Given the description of an element on the screen output the (x, y) to click on. 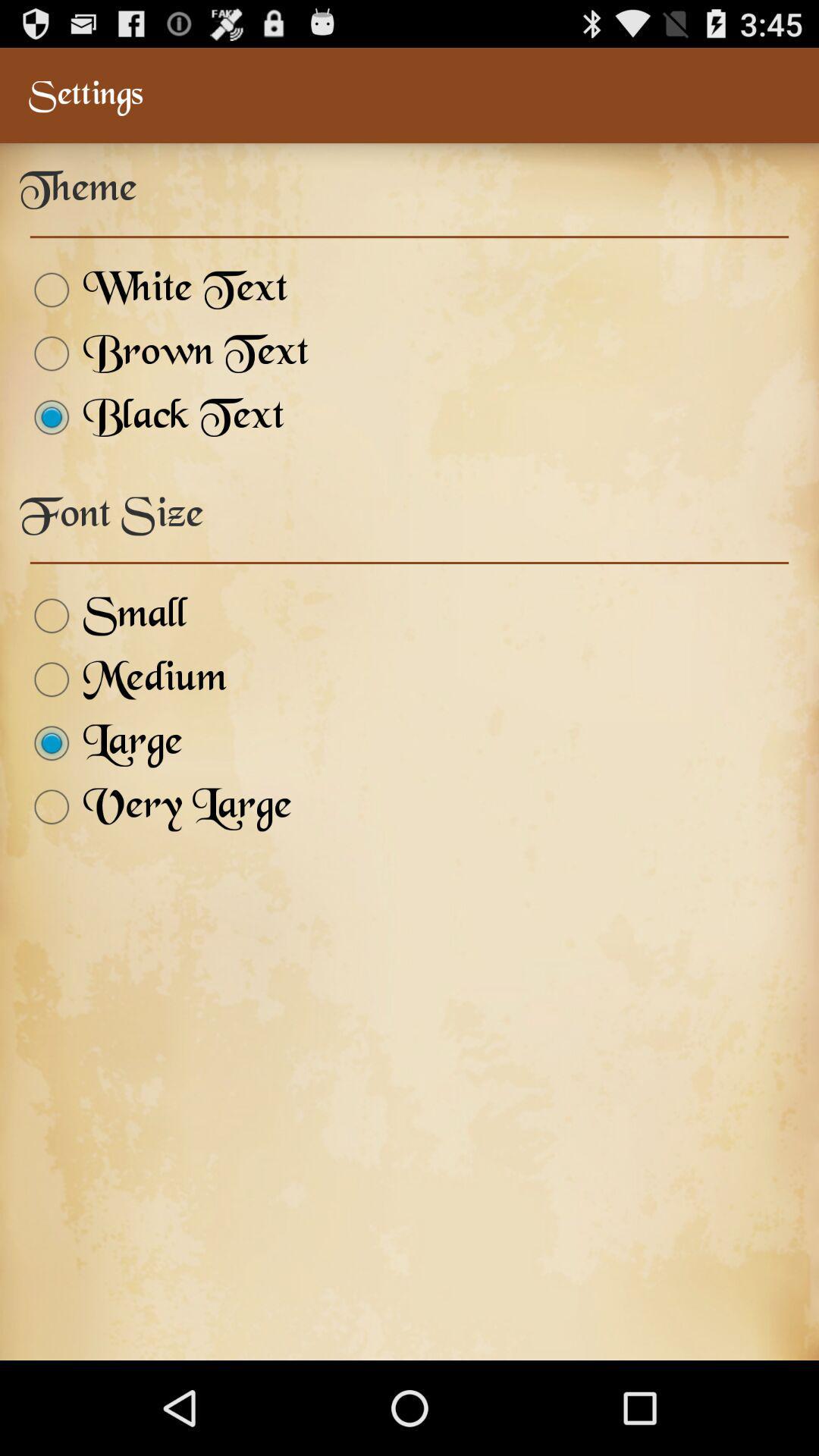
scroll until small icon (103, 615)
